Given the description of an element on the screen output the (x, y) to click on. 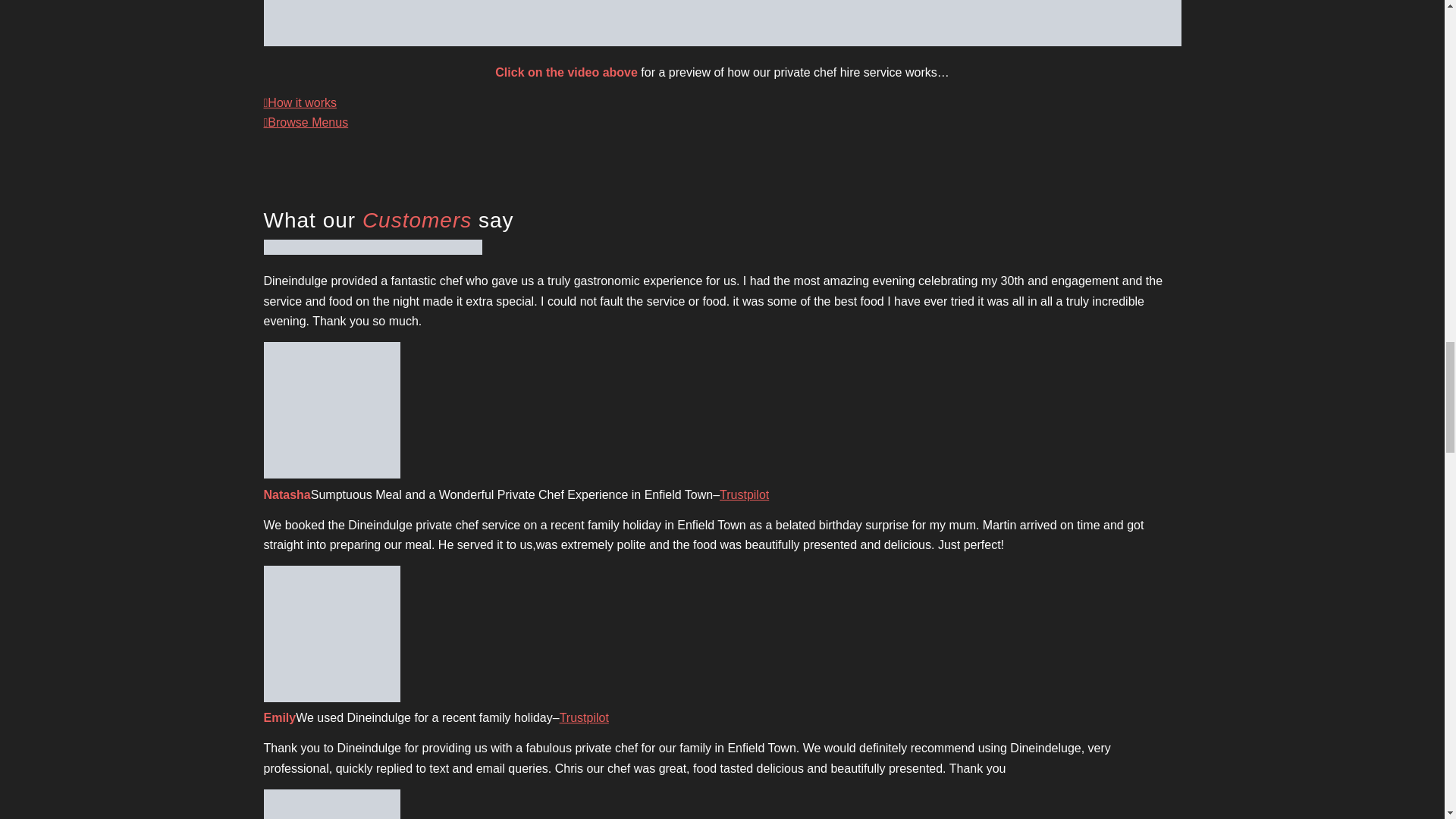
Private Chef Reviews Enfield Town (372, 246)
Hire a Chef in Enfield Town with Dineindulge (721, 22)
